Given the description of an element on the screen output the (x, y) to click on. 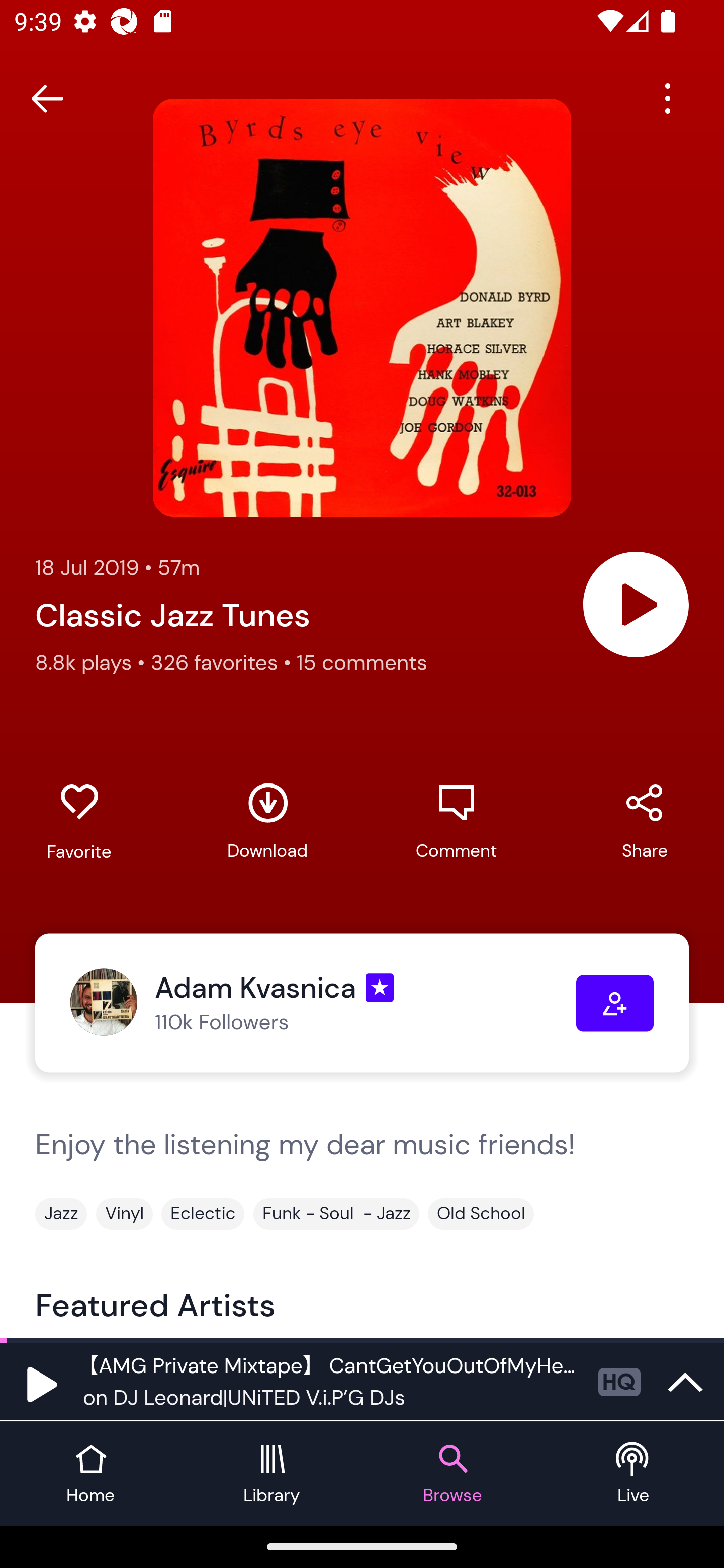
326 favorites •  (223, 662)
15 comments (361, 662)
Favorite (79, 821)
Download (267, 821)
Comment (455, 821)
Share (644, 821)
Follow (614, 1003)
Enjoy the listening my dear music friends! (361, 1161)
Jazz (60, 1213)
Vinyl (124, 1213)
Eclectic (202, 1213)
Funk - Soul  - Jazz (336, 1213)
Old School (480, 1213)
Home tab Home (90, 1473)
Library tab Library (271, 1473)
Browse tab Browse (452, 1473)
Live tab Live (633, 1473)
